Given the description of an element on the screen output the (x, y) to click on. 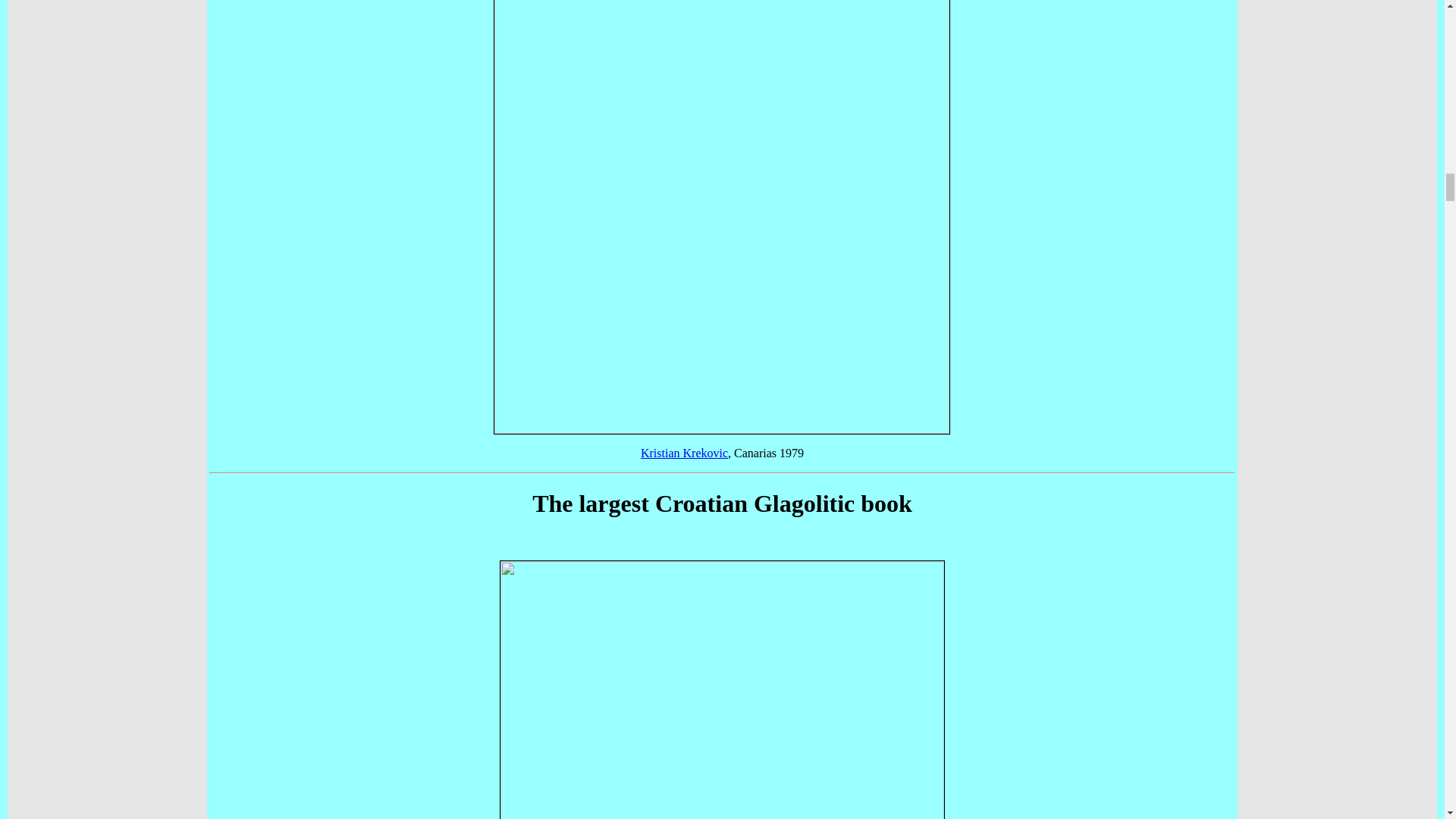
Kristian Krekovic (684, 452)
